Given the description of an element on the screen output the (x, y) to click on. 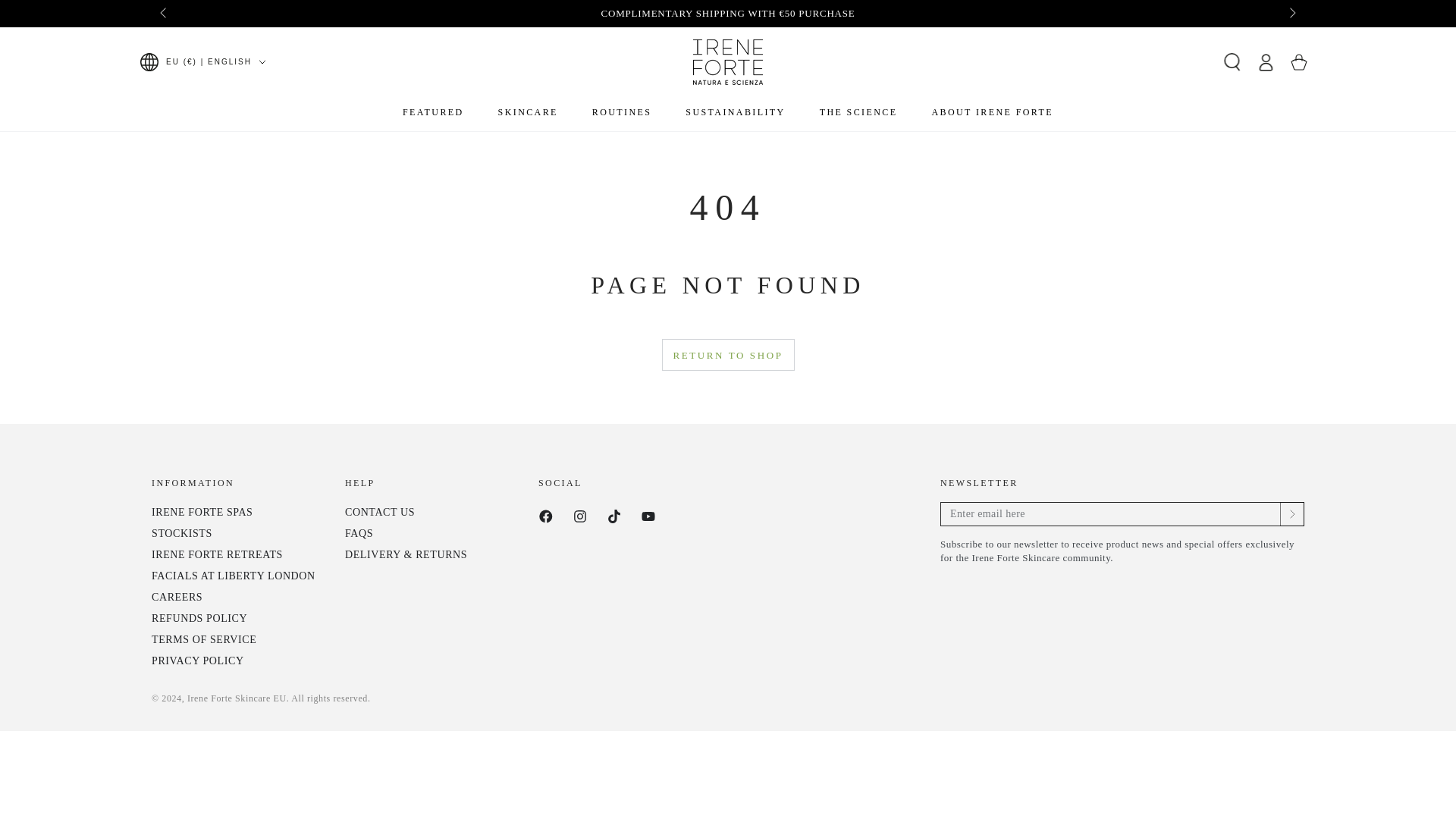
SKIP TO CONTENT (67, 14)
